Given the description of an element on the screen output the (x, y) to click on. 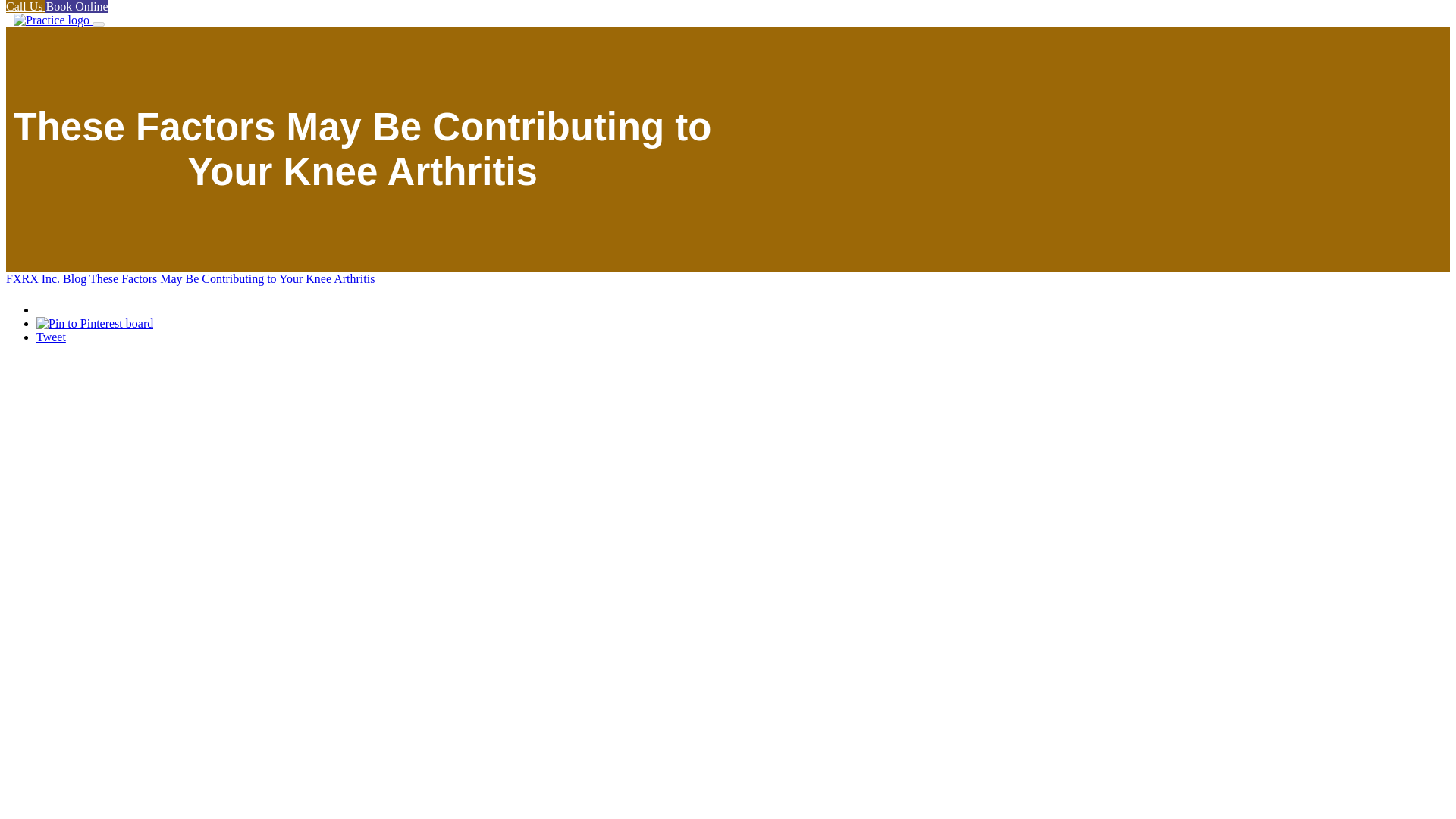
These Factors May Be Contributing to Your Knee Arthritis (231, 278)
Facebook social button (89, 305)
FXRX Inc. (32, 278)
Book Online (76, 6)
Tweet (50, 336)
Blog (73, 278)
Call Us (25, 6)
